Given the description of an element on the screen output the (x, y) to click on. 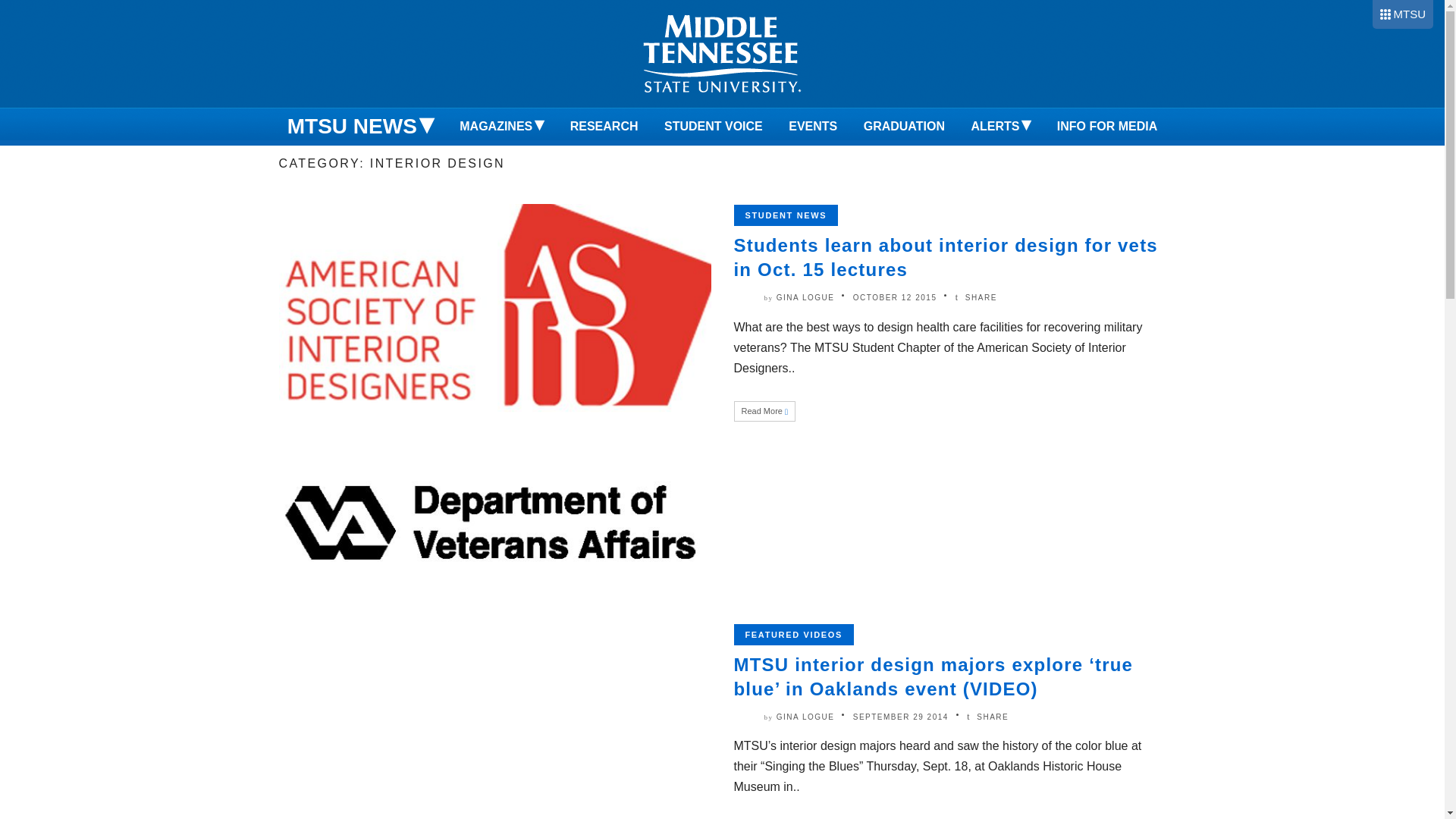
September 29, 2014 3:56 (901, 716)
Posts by Gina Logue (805, 716)
Posts by Gina Logue (805, 297)
October 12, 2015 3:21 (895, 297)
